Given the description of an element on the screen output the (x, y) to click on. 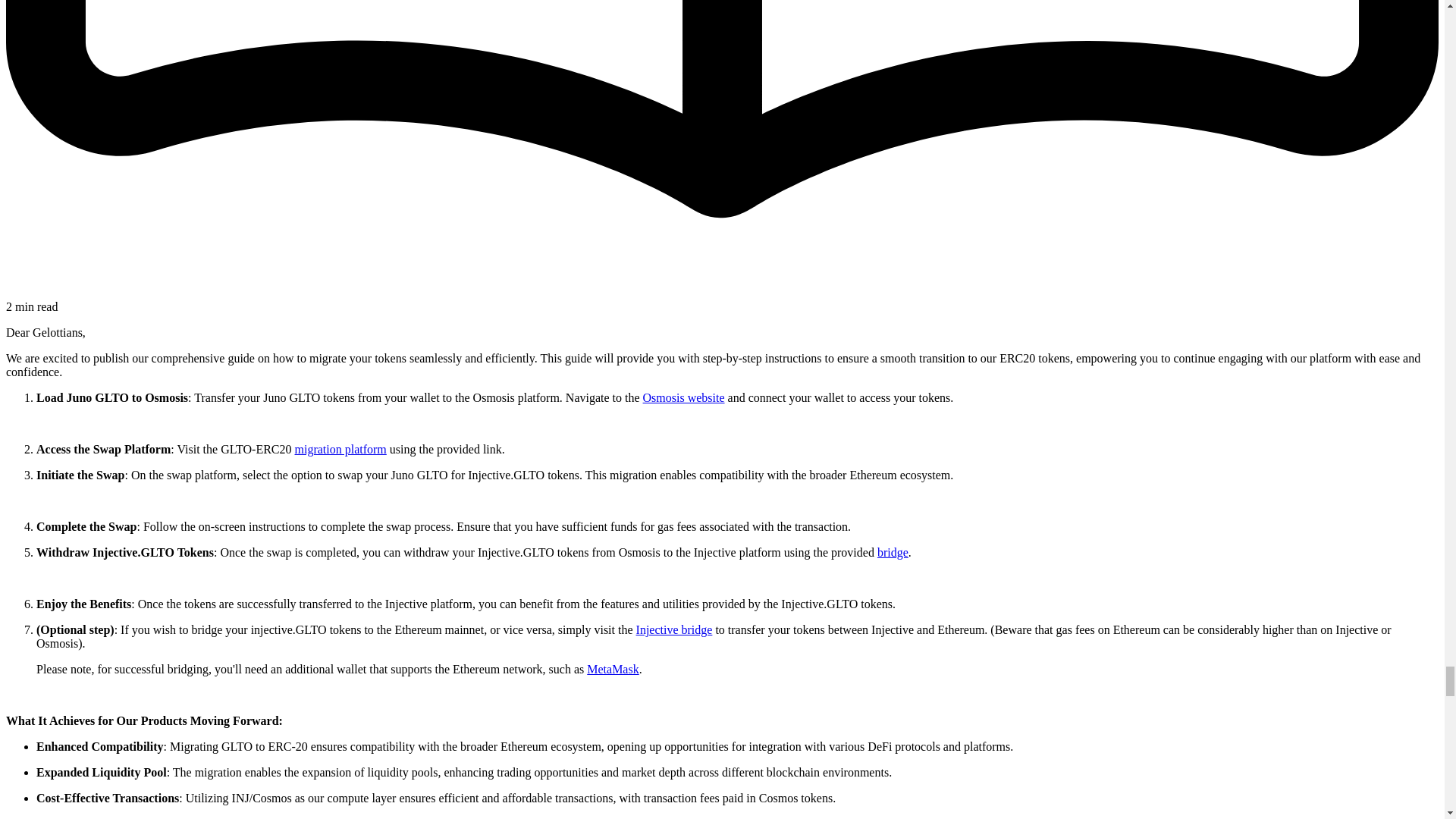
migration platform (339, 449)
Injective bridge (674, 629)
Osmosis website (684, 397)
MetaMask (612, 668)
bridge (892, 552)
